Given the description of an element on the screen output the (x, y) to click on. 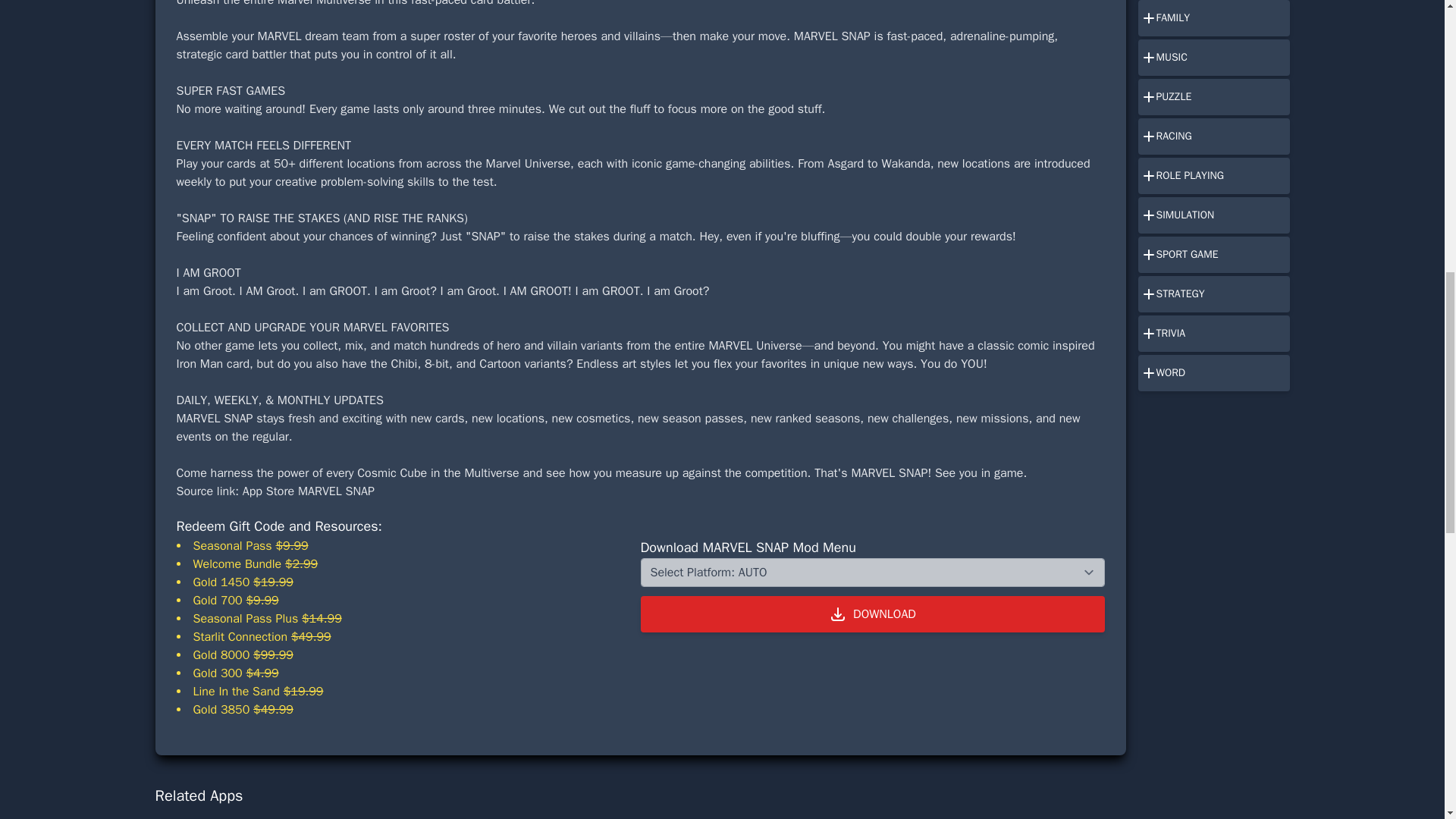
App Store MARVEL SNAP (308, 491)
DOWNLOAD (871, 614)
FAMILY (1212, 18)
